Given the description of an element on the screen output the (x, y) to click on. 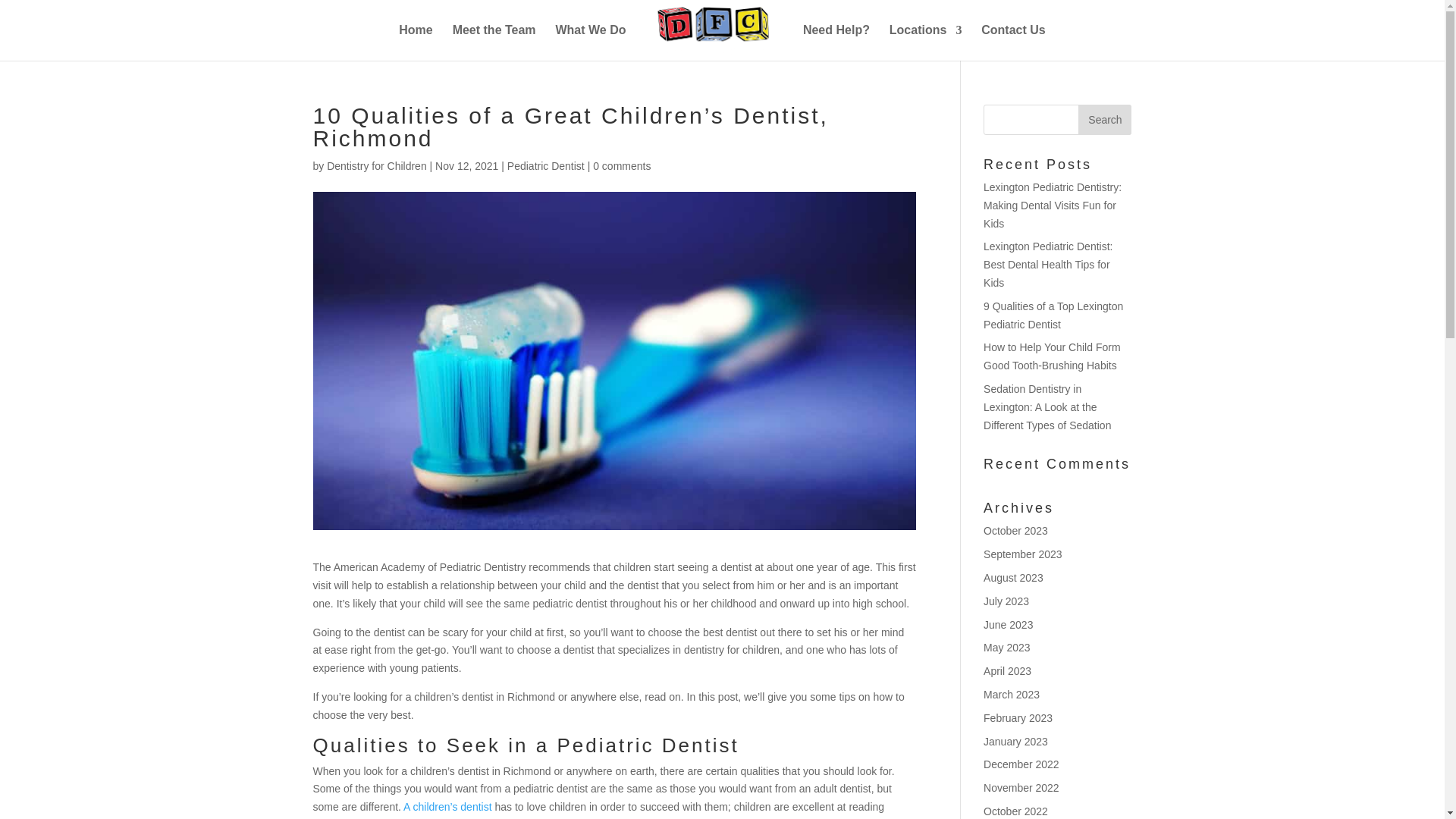
March 2023 (1011, 694)
April 2023 (1007, 671)
Meet the Team (493, 42)
Home (415, 42)
May 2023 (1006, 647)
Locations (925, 42)
Dentistry for Children (376, 165)
How to Help Your Child Form Good Tooth-Brushing Habits (1052, 356)
